Given the description of an element on the screen output the (x, y) to click on. 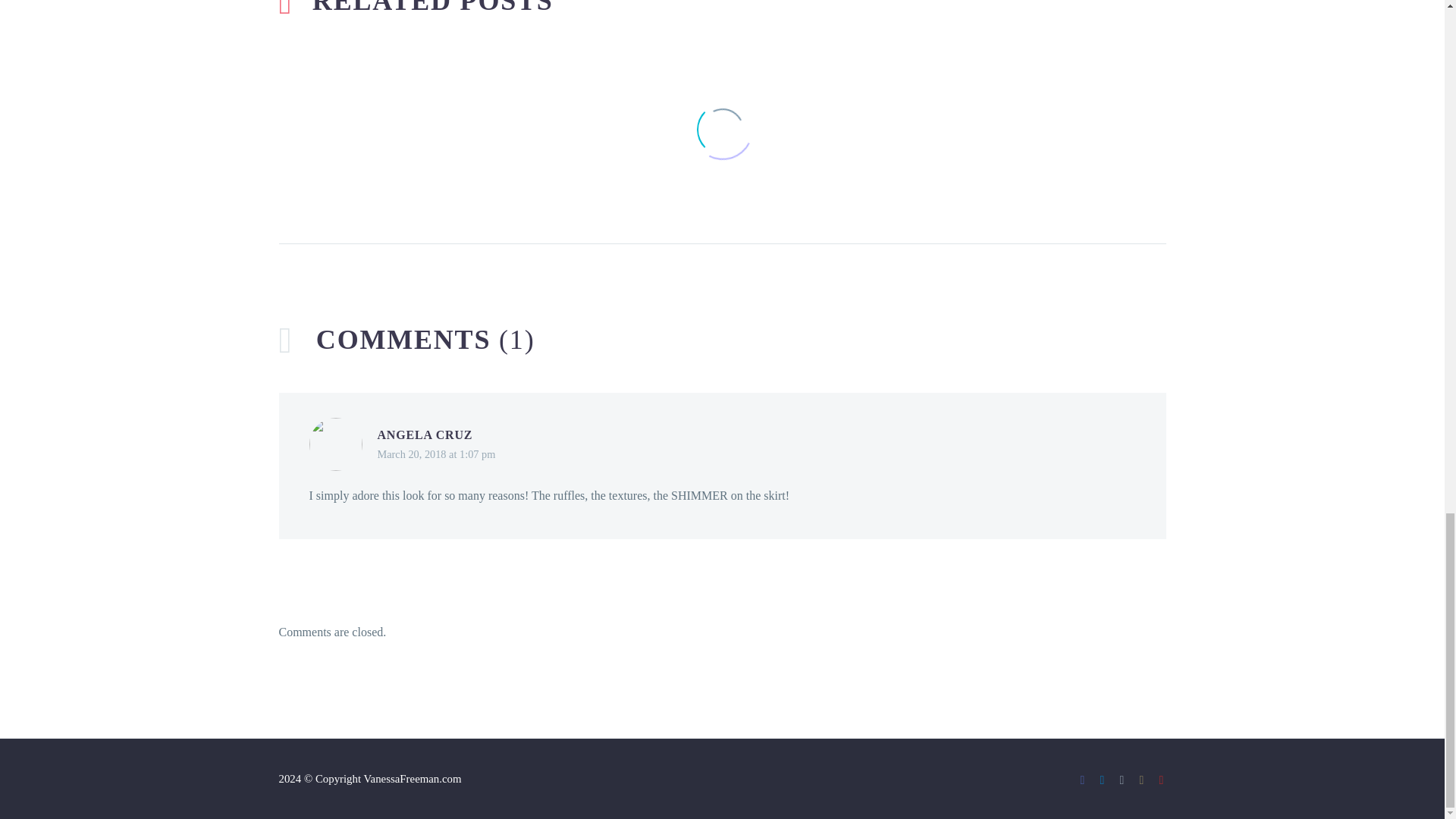
LinkedIn (1102, 779)
Facebook (1083, 779)
